Given the description of an element on the screen output the (x, y) to click on. 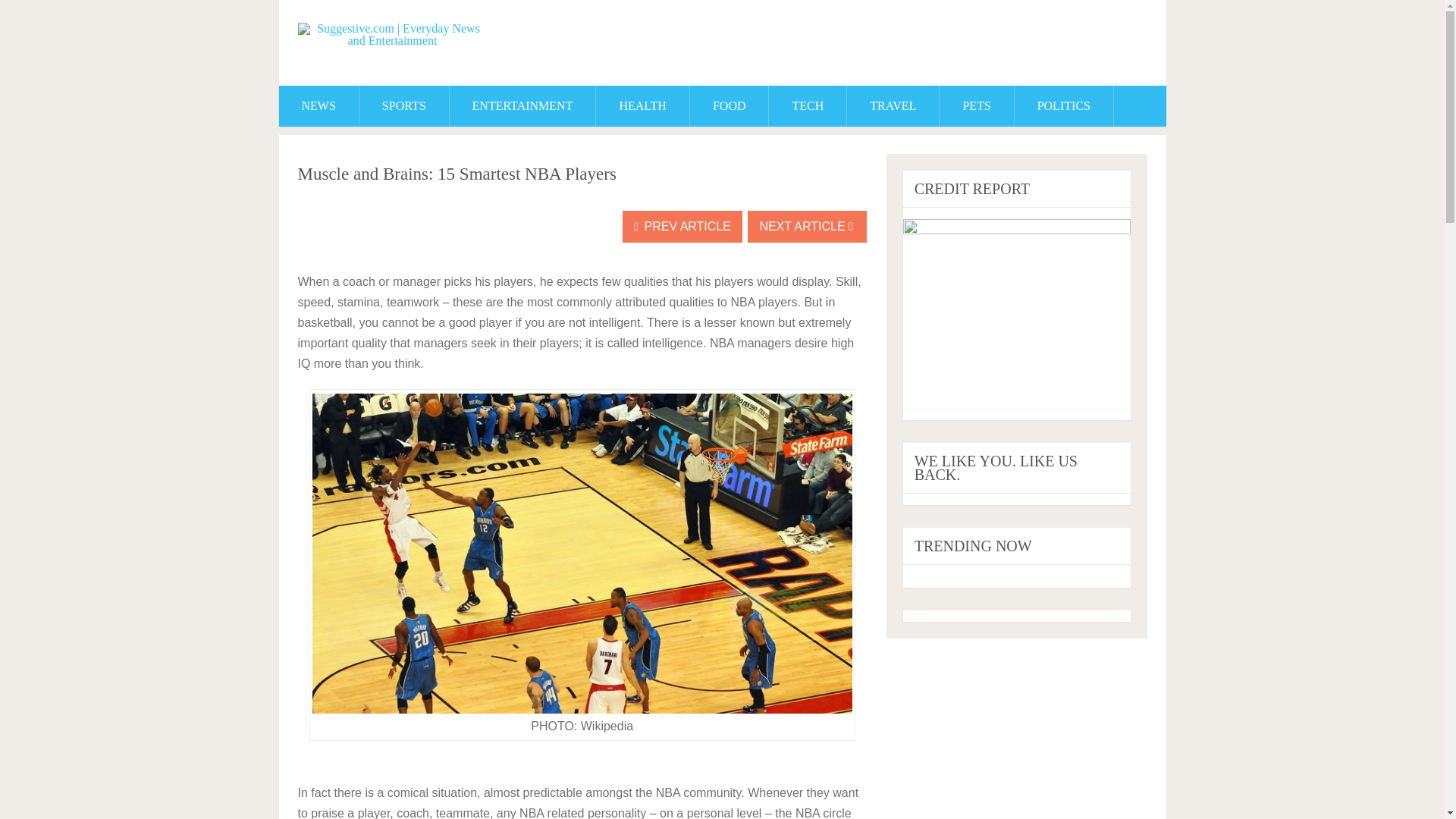
POLITICS (1063, 105)
ENTERTAINMENT (522, 105)
TRAVEL (893, 105)
SPORTS (403, 105)
TECH (806, 105)
PETS (976, 105)
PREV ARTICLE (682, 226)
NEXT ARTICLE (807, 226)
NEWS (318, 105)
HEALTH (641, 105)
FOOD (729, 105)
